Given the description of an element on the screen output the (x, y) to click on. 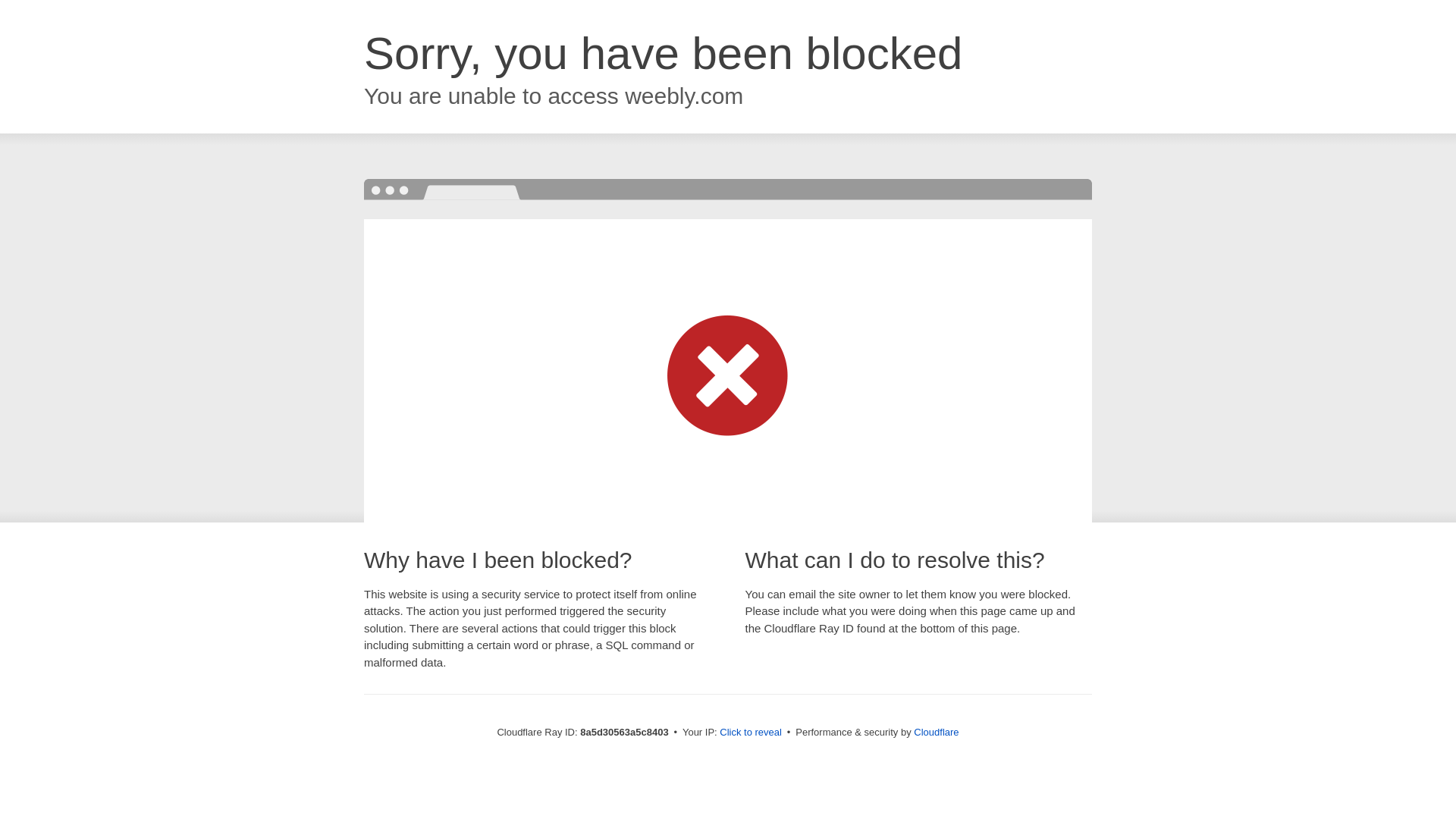
Click to reveal (750, 732)
Cloudflare (936, 731)
